Given the description of an element on the screen output the (x, y) to click on. 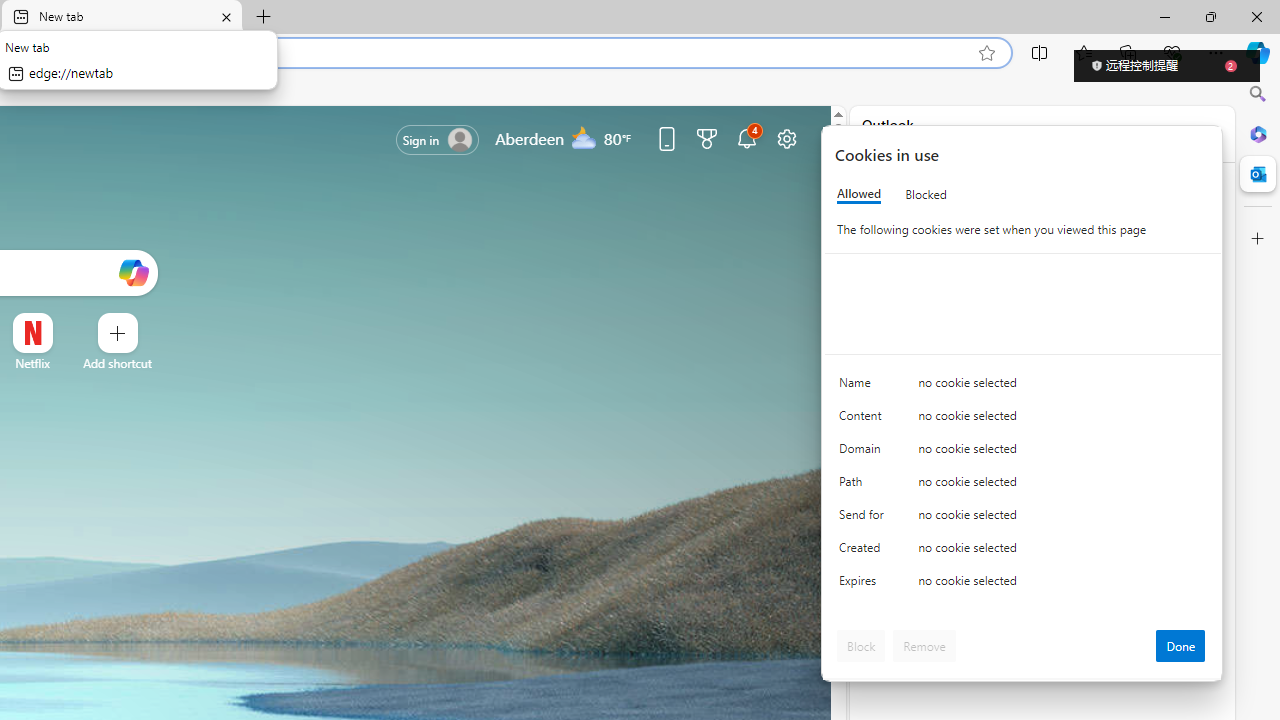
Done (1179, 645)
Path (864, 485)
Class: c0153 c0157 c0154 (1023, 386)
Netflix (32, 363)
Mostly cloudy (584, 137)
Block (861, 645)
Class: c0153 c0157 (1023, 584)
Outlook (1258, 174)
no cookie selected (1062, 585)
Domain (864, 452)
